Given the description of an element on the screen output the (x, y) to click on. 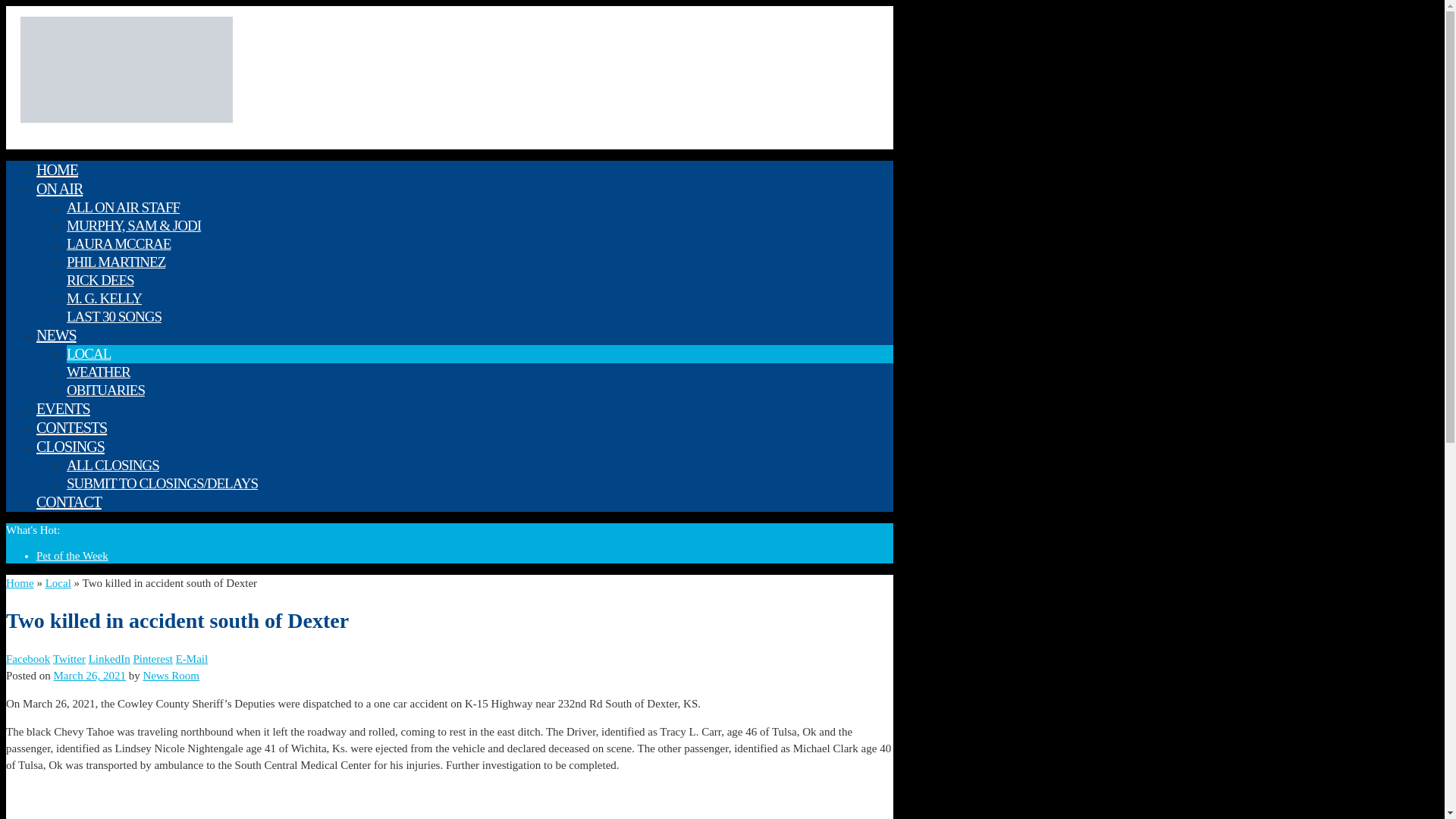
CONTESTS (71, 427)
LinkedIn (109, 658)
View all posts by News Room (170, 675)
ON AIR (59, 188)
Share to Facebook (27, 658)
ALL CLOSINGS (112, 465)
LOCAL (88, 353)
Share to Pinterest (152, 658)
WEATHER (98, 371)
HOME (57, 169)
Facebook (27, 658)
Share to Twitter (68, 658)
Share to LinkedIn (109, 658)
Pinterest (152, 658)
M. G. KELLY (103, 298)
